Given the description of an element on the screen output the (x, y) to click on. 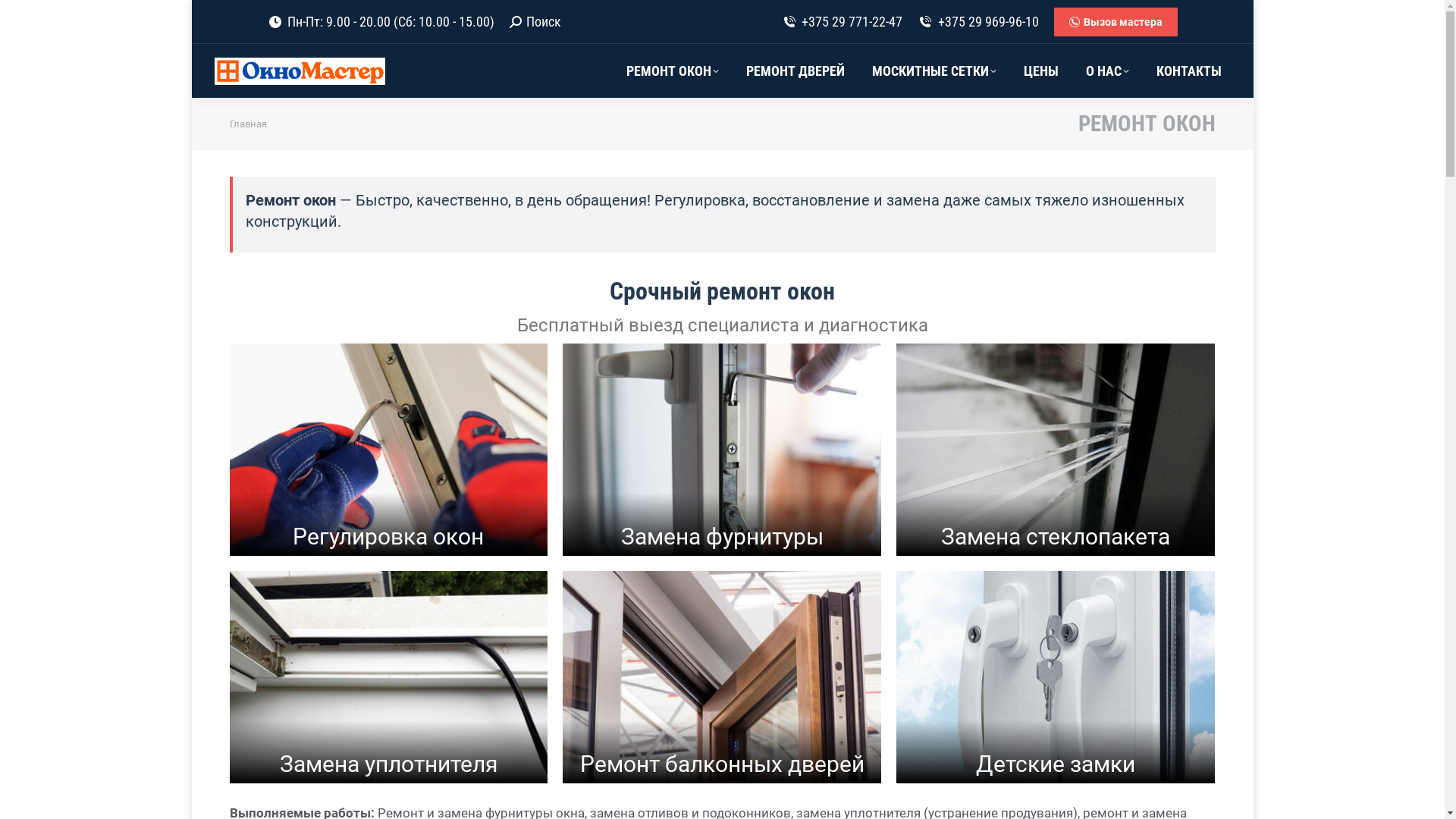
+375 29 969-96-10 Element type: text (977, 21)
+375 29 771-22-47 Element type: text (841, 21)
